Given the description of an element on the screen output the (x, y) to click on. 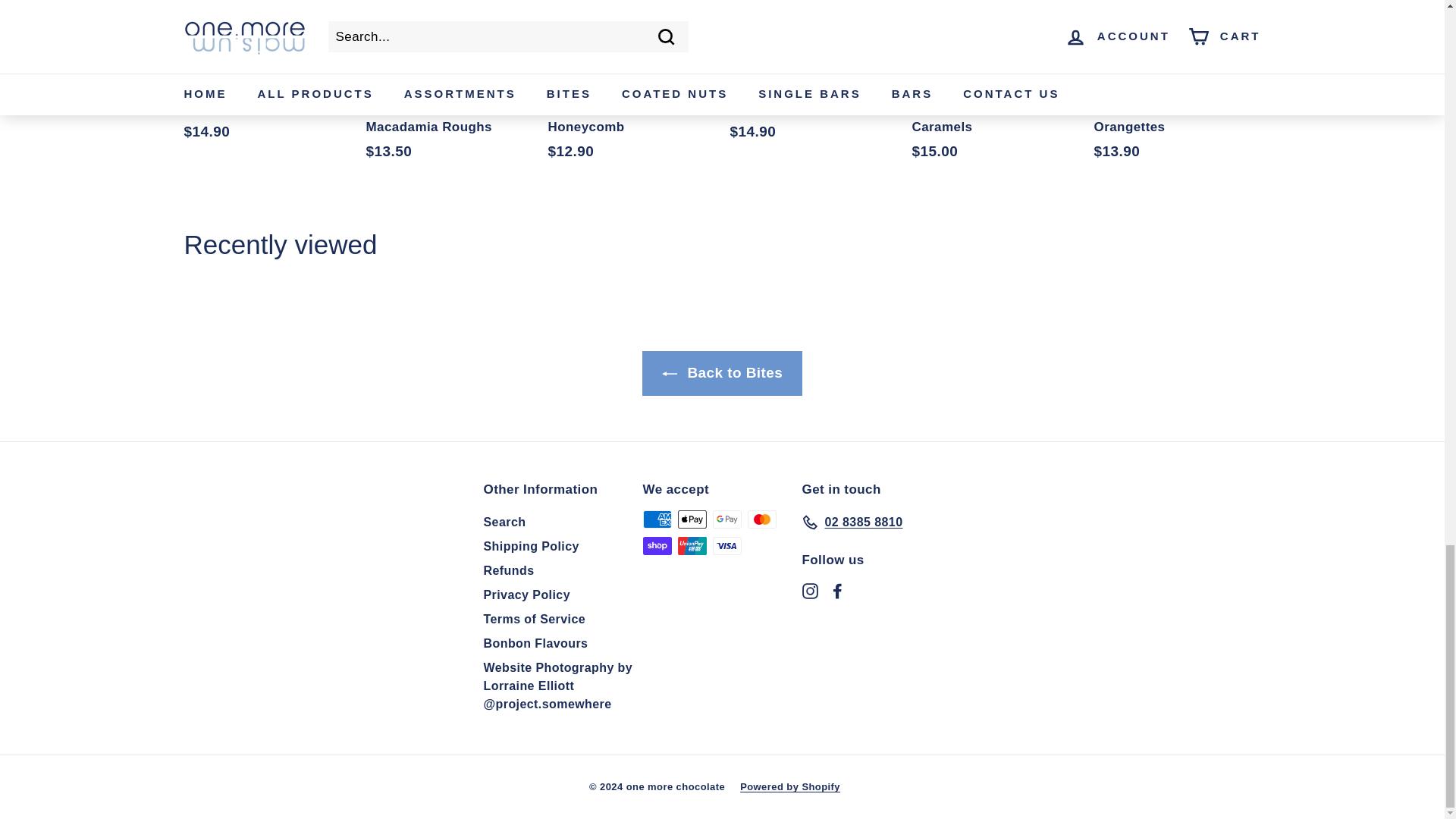
Mastercard (762, 519)
Visa (727, 546)
one more chocolate on Instagram (810, 590)
Apple Pay (692, 519)
American Express (657, 519)
Google Pay (727, 519)
one more chocolate on Facebook (837, 590)
Shop Pay (657, 546)
Union Pay (692, 546)
